Given the description of an element on the screen output the (x, y) to click on. 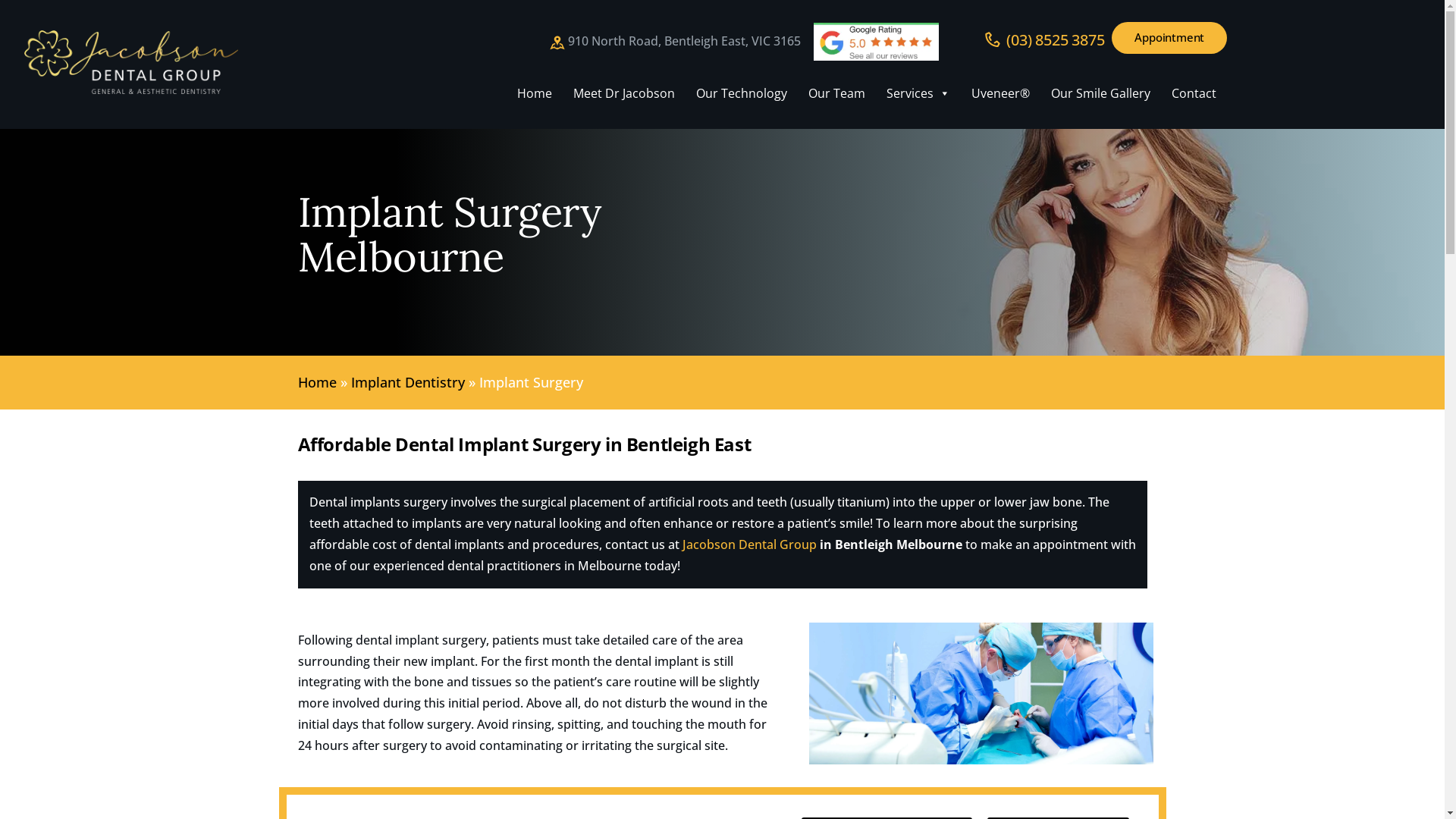
Our Smile Gallery Element type: text (1100, 93)
Meet Dr Jacobson Element type: text (623, 93)
Contact Element type: text (1193, 93)
Home Element type: text (316, 382)
Appointment Element type: text (1168, 37)
Jacobson Dental Group Element type: text (749, 544)
Our Team Element type: text (836, 93)
Implant Dentistry Element type: text (407, 382)
Services Element type: text (917, 93)
910 North Road, Bentleigh East, VIC 3165 Element type: text (674, 41)
Our Technology Element type: text (741, 93)
(03) 8525 3875 Element type: text (1044, 39)
Home Element type: text (534, 93)
